Given the description of an element on the screen output the (x, y) to click on. 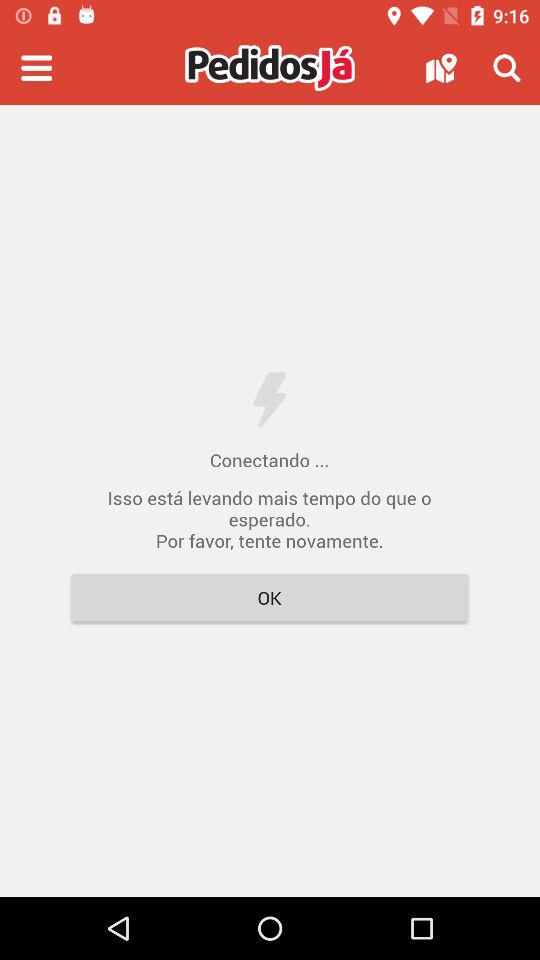
select the icon at the top left corner (36, 68)
